Given the description of an element on the screen output the (x, y) to click on. 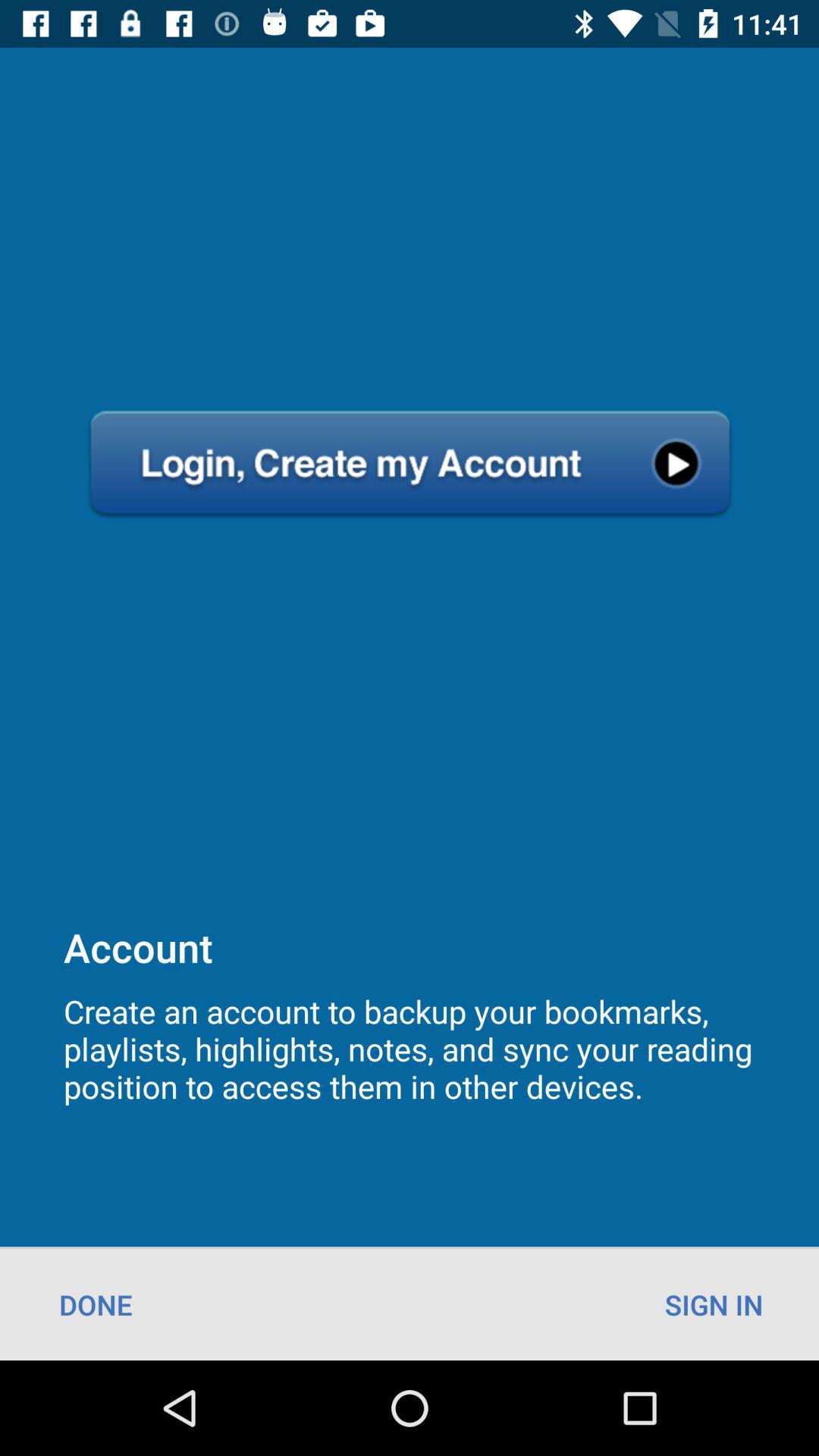
launch sign in icon (713, 1304)
